Given the description of an element on the screen output the (x, y) to click on. 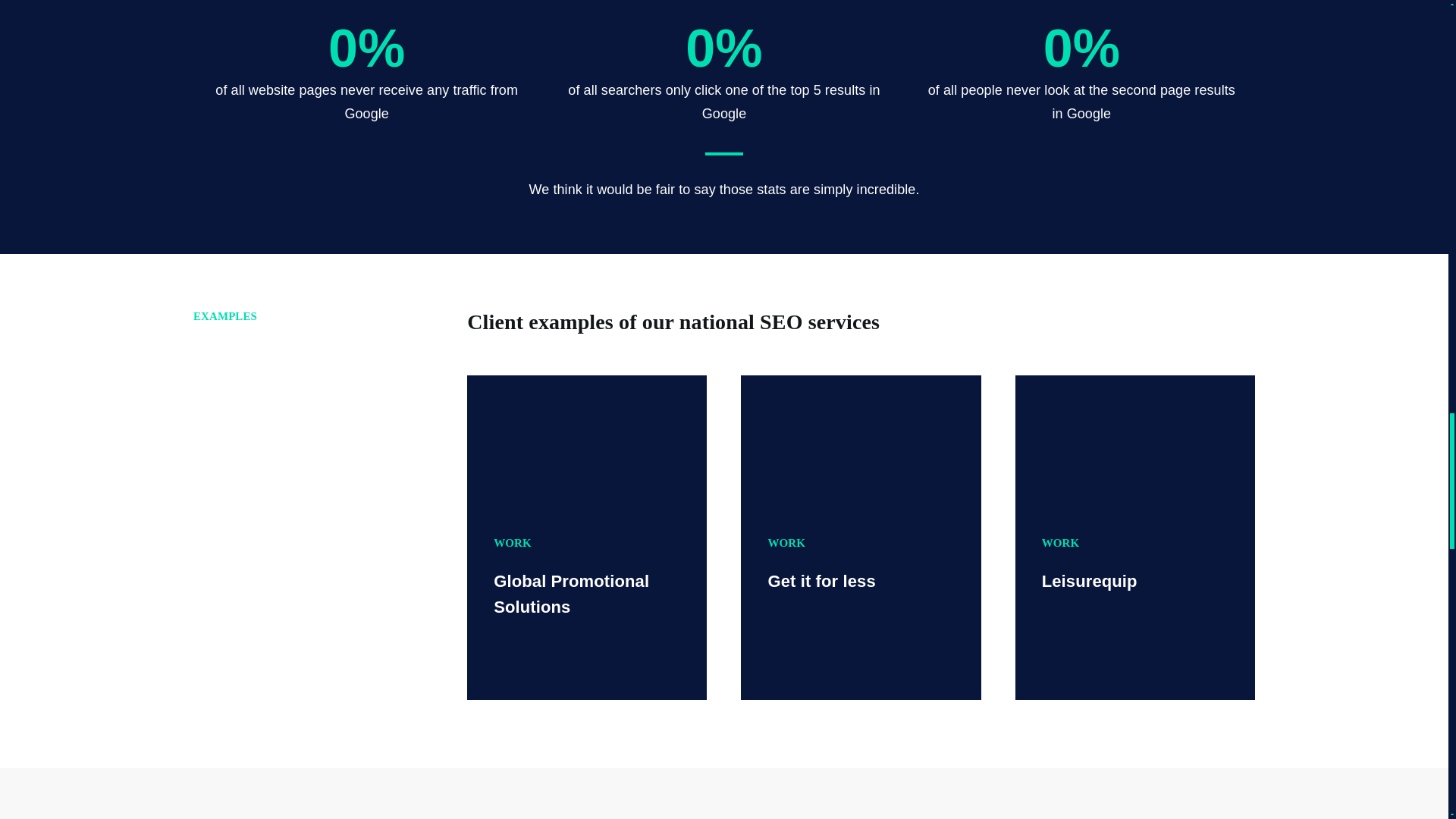
Global Promotional Solutions (586, 440)
Leisurequip (1134, 440)
Get it for less (860, 440)
